Given the description of an element on the screen output the (x, y) to click on. 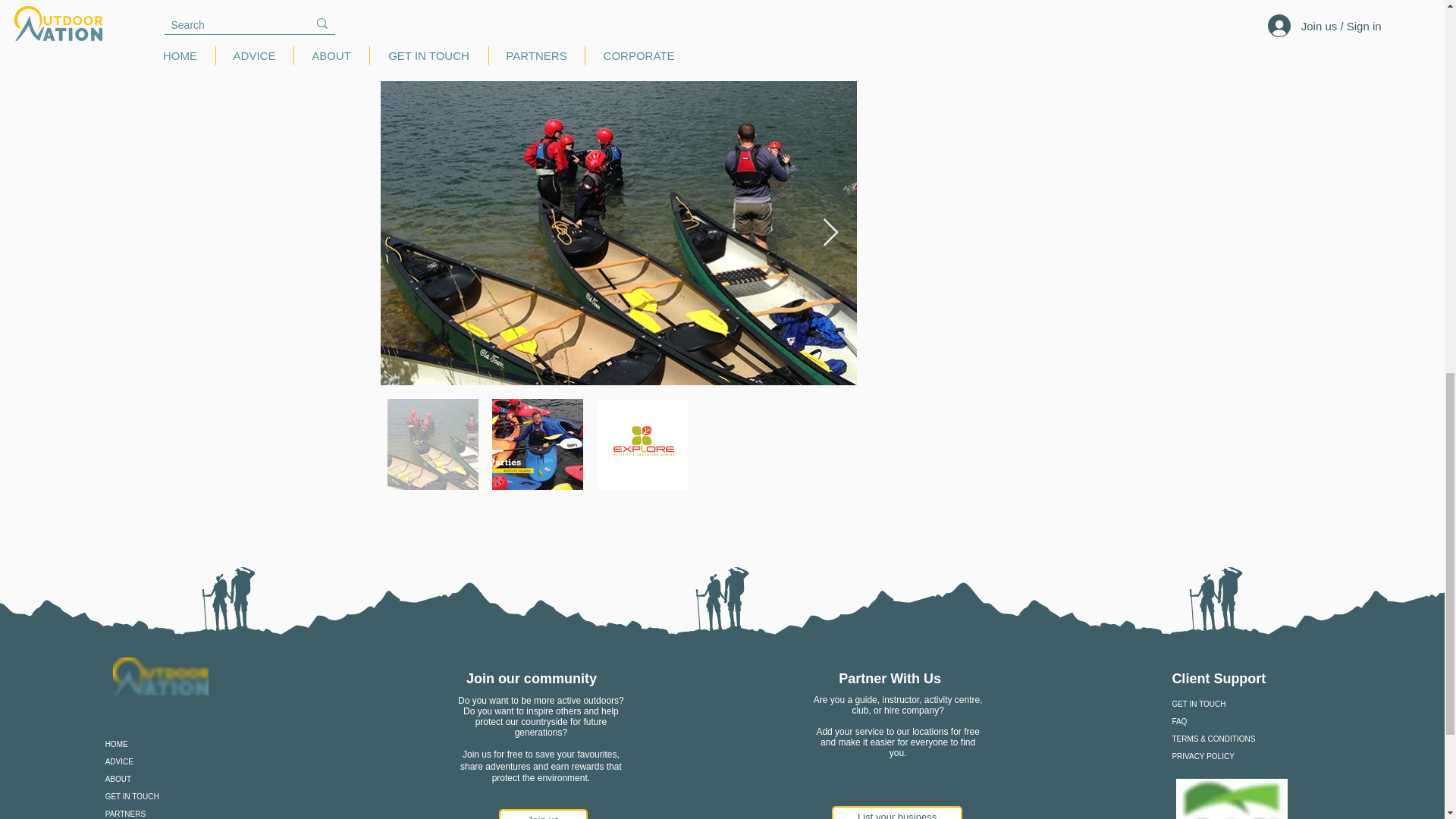
GET IN TOUCH (166, 796)
ABOUT (166, 778)
ADVICE (166, 761)
HOME (166, 743)
List your business (896, 812)
Join us (543, 814)
GET IN TOUCH (1236, 703)
